Given the description of an element on the screen output the (x, y) to click on. 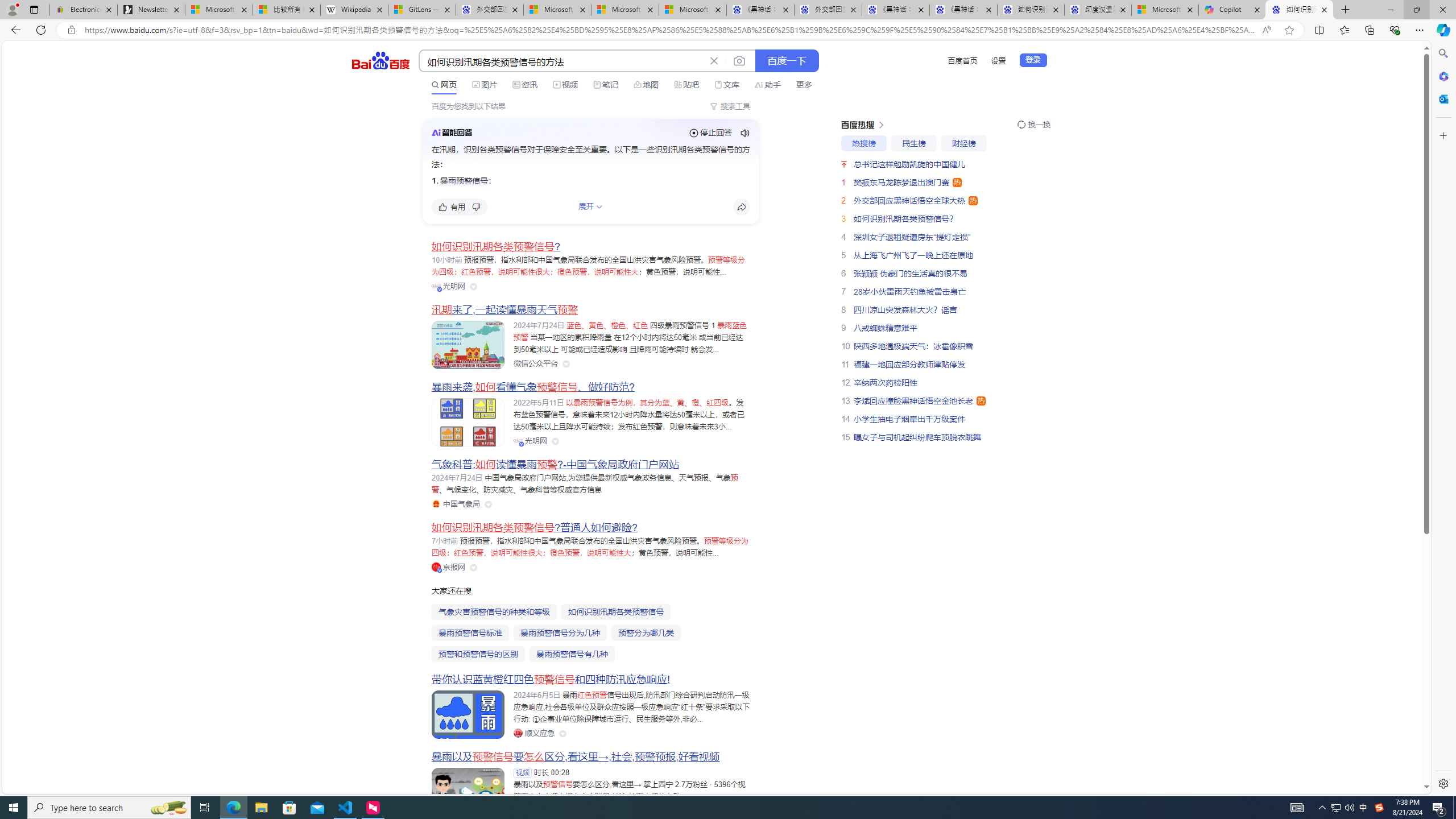
Tab actions menu (33, 9)
Browser essentials (1394, 29)
Class: vip-icon_kNmNt (439, 570)
Class: siteLink_9TPP3 (533, 732)
Read aloud this page (Ctrl+Shift+U) (1266, 29)
